Given the description of an element on the screen output the (x, y) to click on. 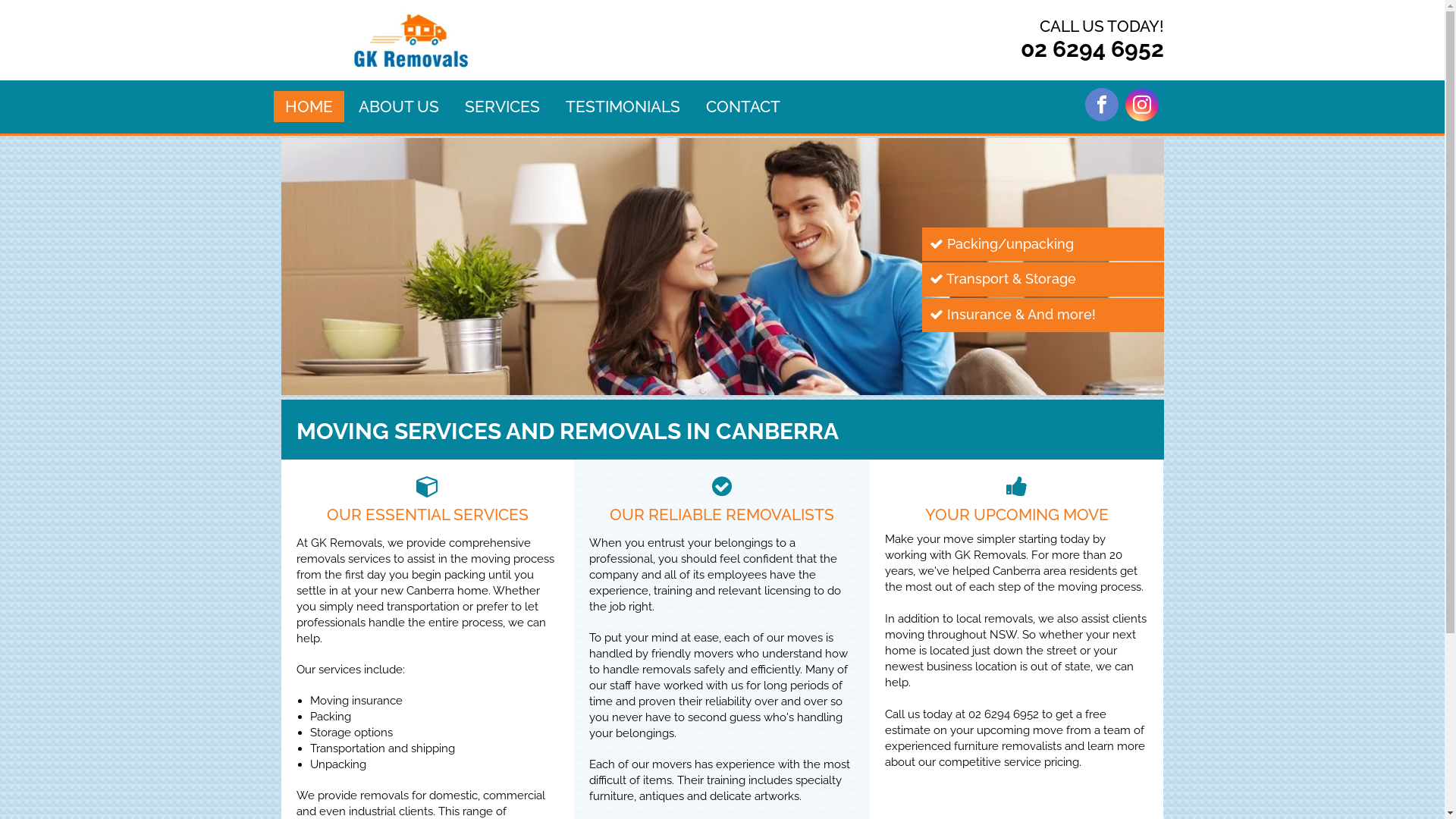
SERVICES Element type: text (501, 106)
TESTIMONIALS Element type: text (622, 106)
HOME Element type: text (308, 106)
CONTACT Element type: text (742, 106)
gk removals couples smiles in front of the packages Element type: hover (721, 266)
02 6294 6952 Element type: text (1092, 48)
ABOUT US Element type: text (397, 106)
gk removals logo Element type: hover (410, 40)
